Given the description of an element on the screen output the (x, y) to click on. 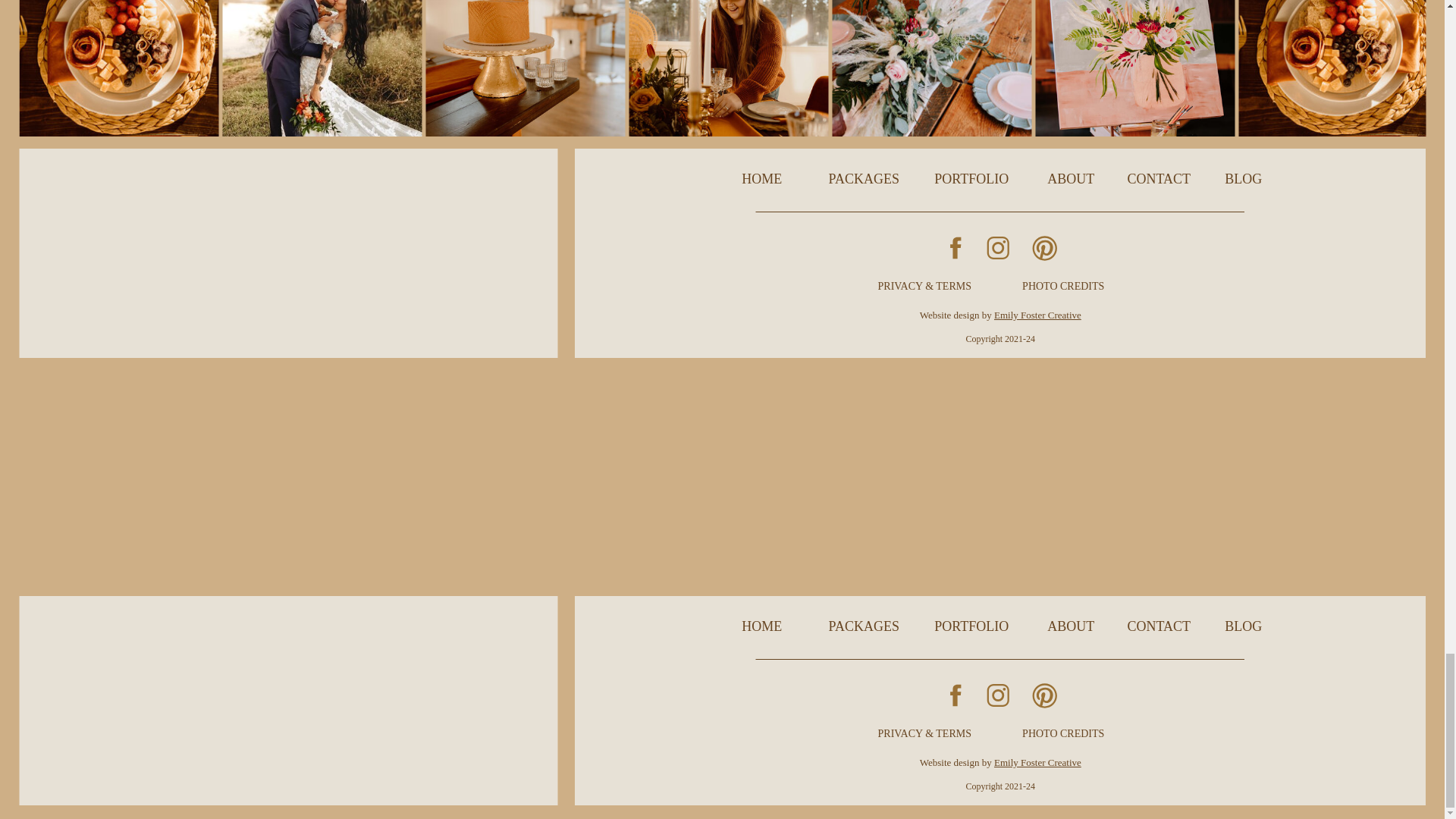
PHOTO CREDITS (1063, 731)
Daisy-and-Sun-Events-Katelynn-setting-up-tablescape (728, 68)
BLOG (1242, 624)
CONTACT (1157, 177)
PORTFOLIO (972, 177)
HOME (761, 177)
Daisy-and-Sun-Events-painting (1134, 68)
CONTACT (1157, 624)
BLOG (1242, 177)
PHOTO CREDITS (1063, 284)
PACKAGES (864, 624)
PORTFOLIO (972, 624)
Emily Foster Creative (1037, 762)
Daisy-and-Sun-Events-charcuterie-board-packages (1338, 68)
ABOUT (1070, 177)
